Given the description of an element on the screen output the (x, y) to click on. 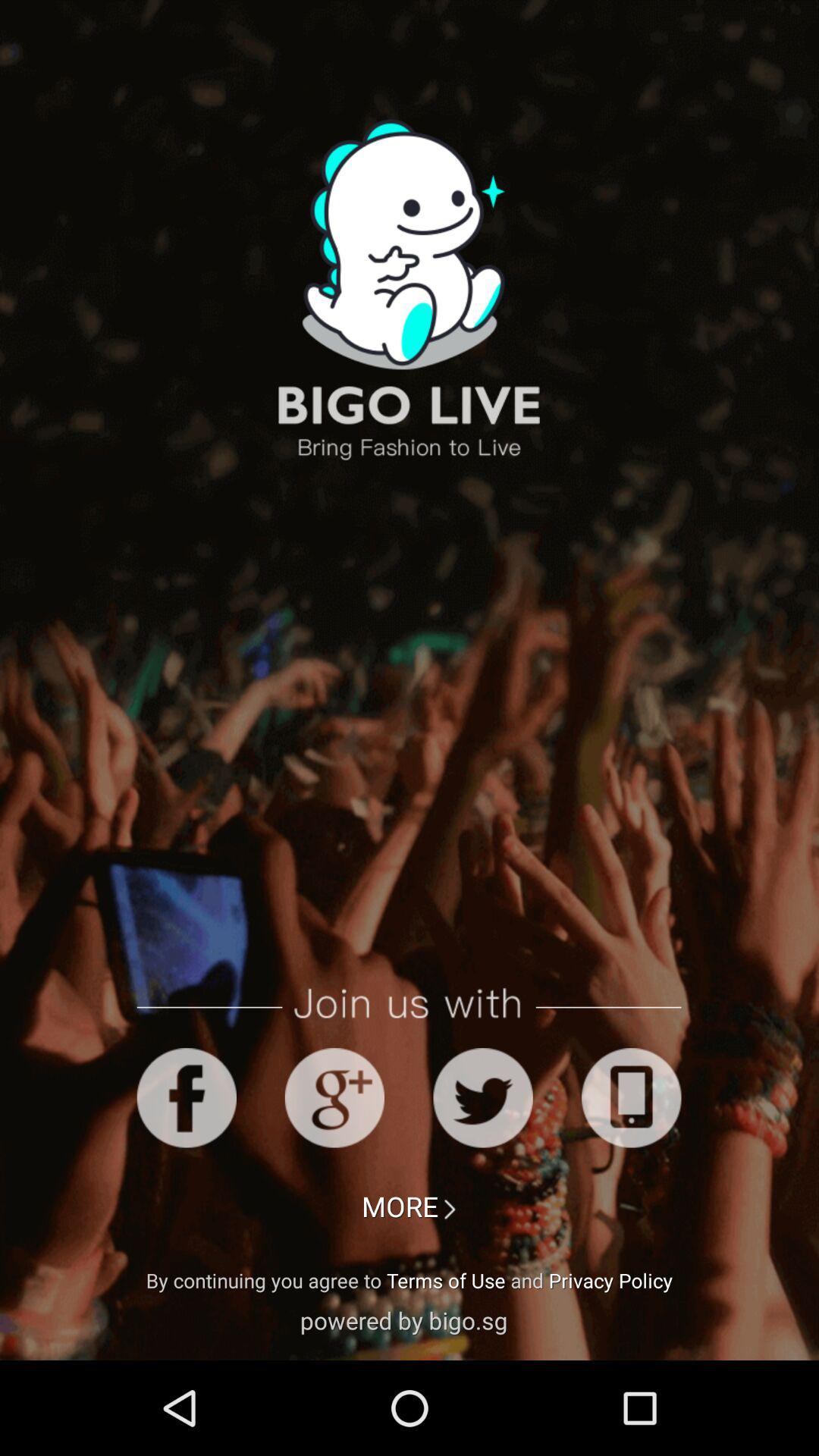
login with facebook (186, 1097)
